Given the description of an element on the screen output the (x, y) to click on. 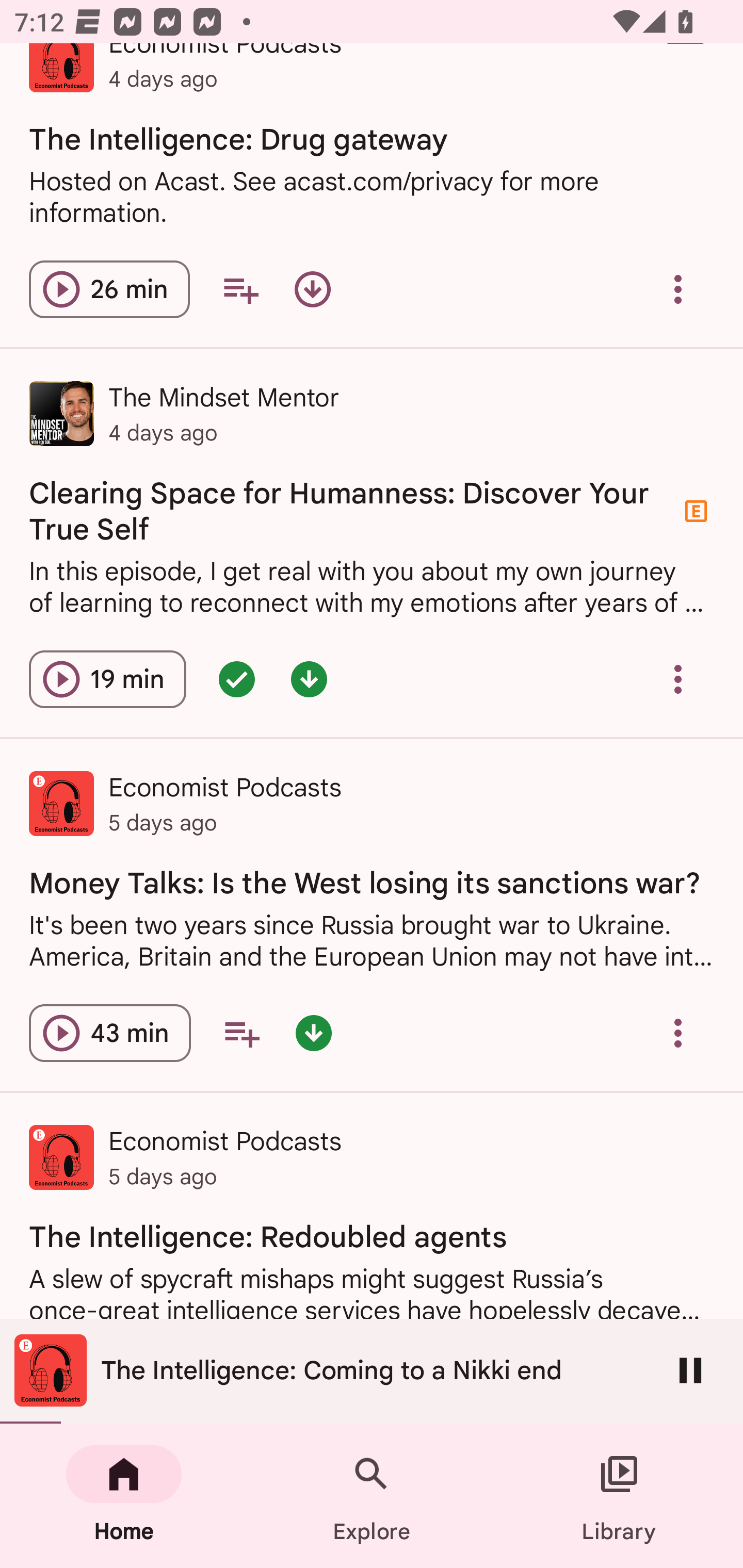
Play episode The Intelligence: Drug gateway 26 min (109, 289)
Add to your queue (240, 289)
Download episode (312, 289)
Overflow menu (677, 289)
Episode queued - double tap for options (236, 679)
Episode downloaded - double tap for options (308, 679)
Overflow menu (677, 679)
Add to your queue (241, 1033)
Episode downloaded - double tap for options (313, 1033)
Overflow menu (677, 1033)
Pause (690, 1370)
Explore (371, 1495)
Library (619, 1495)
